Given the description of an element on the screen output the (x, y) to click on. 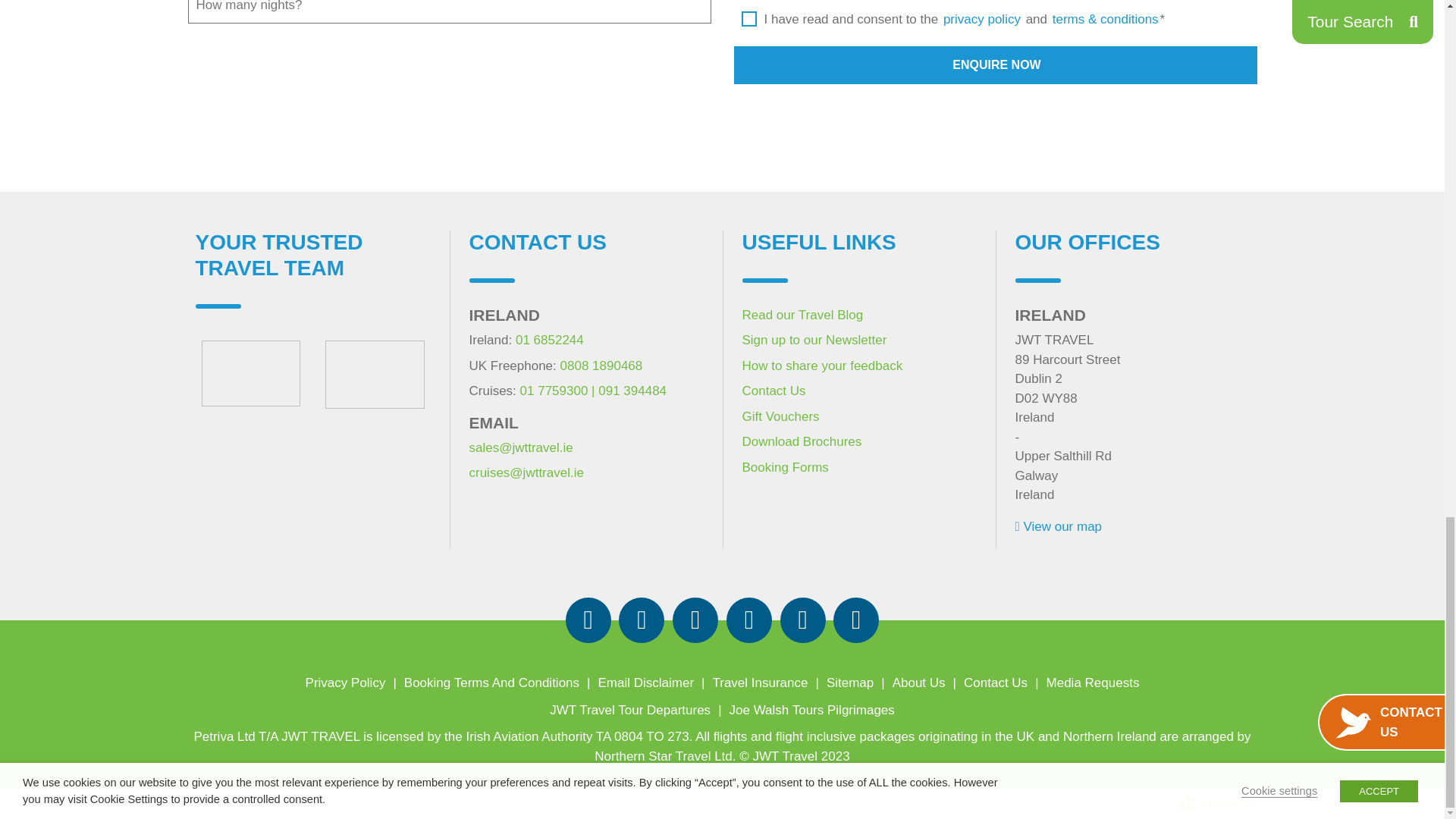
1 (749, 9)
Enquire Now (995, 64)
